Given the description of an element on the screen output the (x, y) to click on. 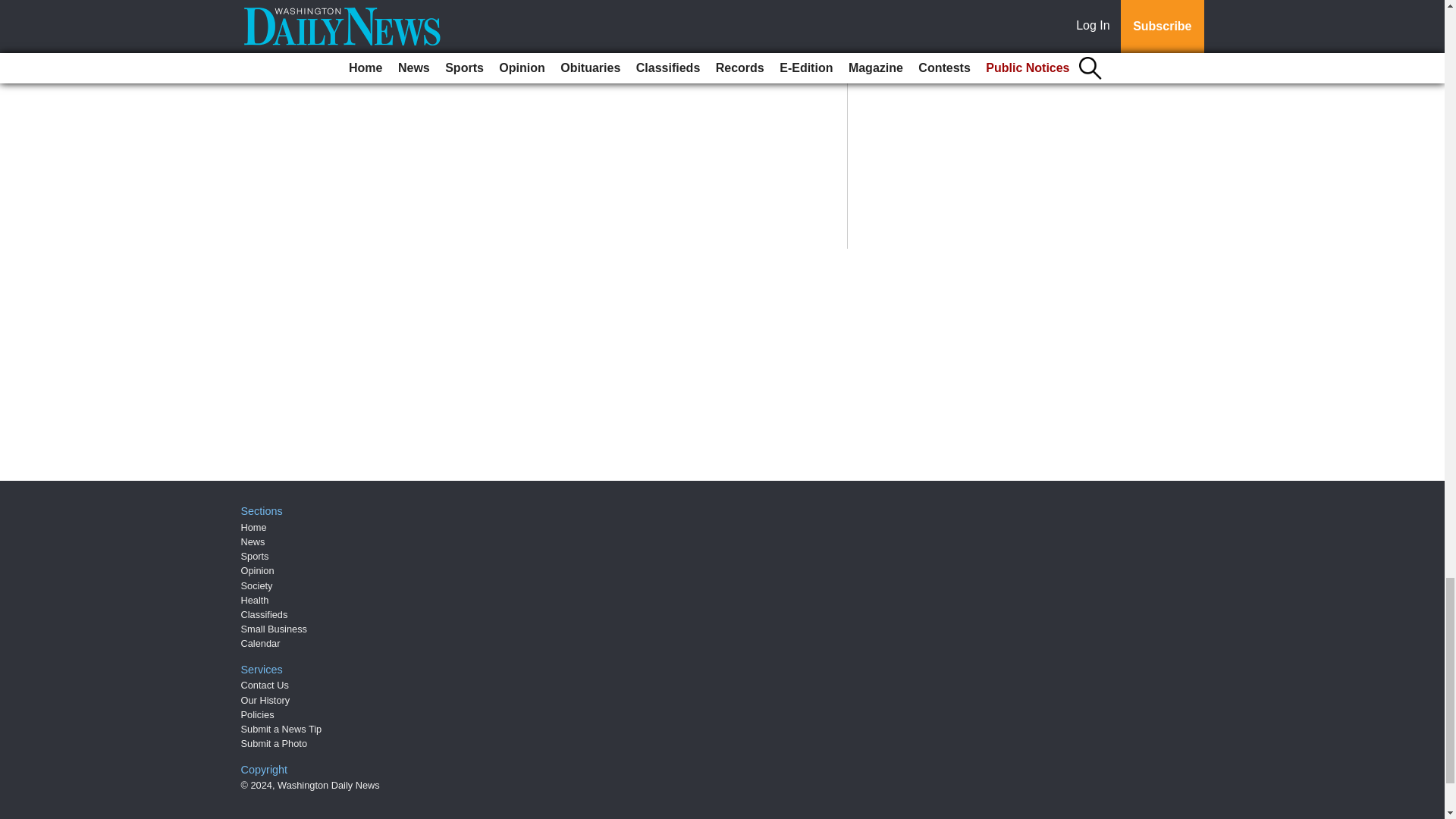
News (252, 541)
Home (253, 527)
Opinion (258, 570)
Sports (255, 555)
Society (257, 585)
